Given the description of an element on the screen output the (x, y) to click on. 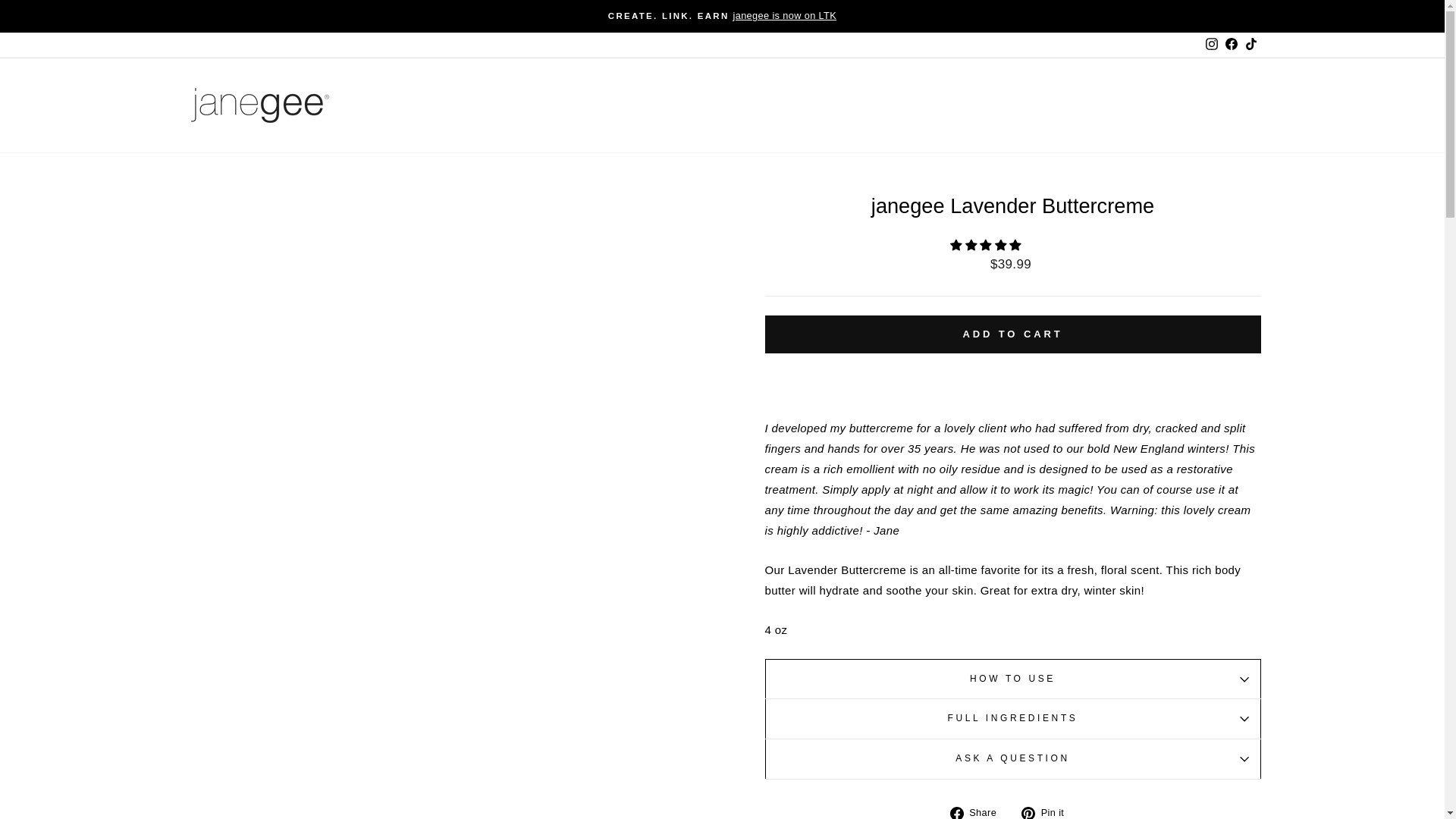
Share on Facebook (978, 810)
Pin on Pinterest (1048, 810)
